Given the description of an element on the screen output the (x, y) to click on. 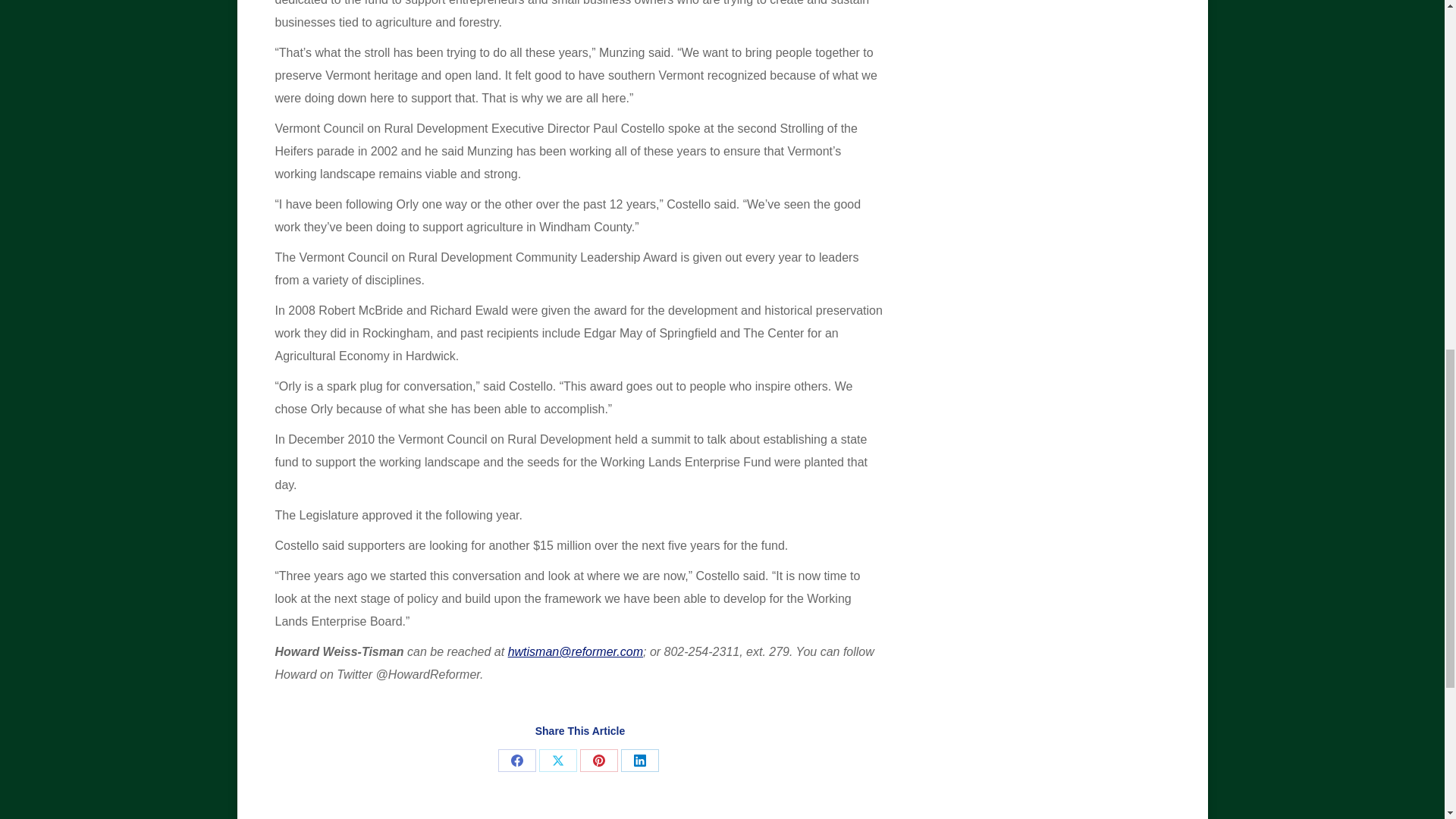
Facebook (516, 760)
X (557, 760)
LinkedIn (640, 760)
Pinterest (598, 760)
